Given the description of an element on the screen output the (x, y) to click on. 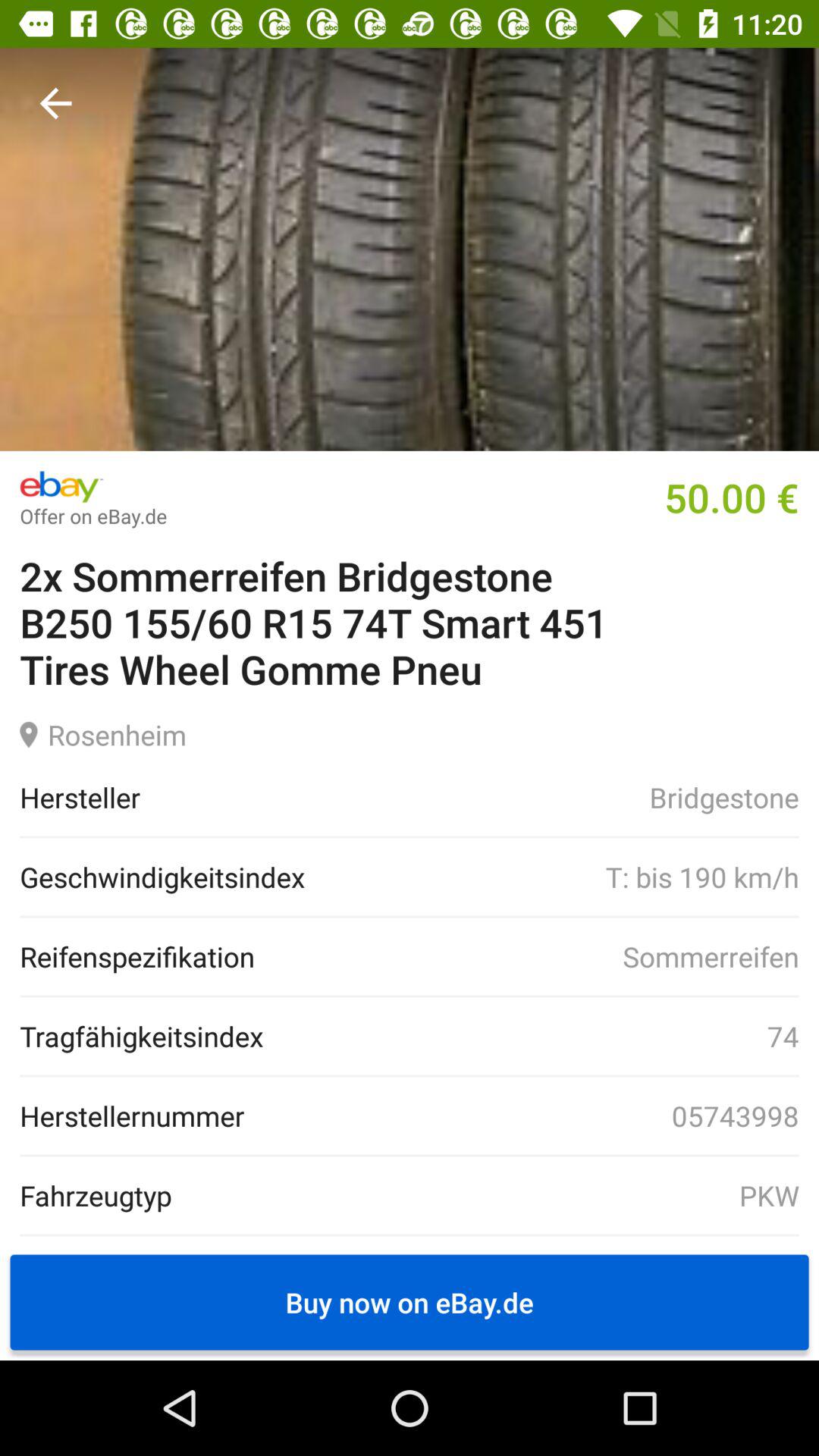
flip until the geschwindigkeitsindex icon (161, 876)
